Given the description of an element on the screen output the (x, y) to click on. 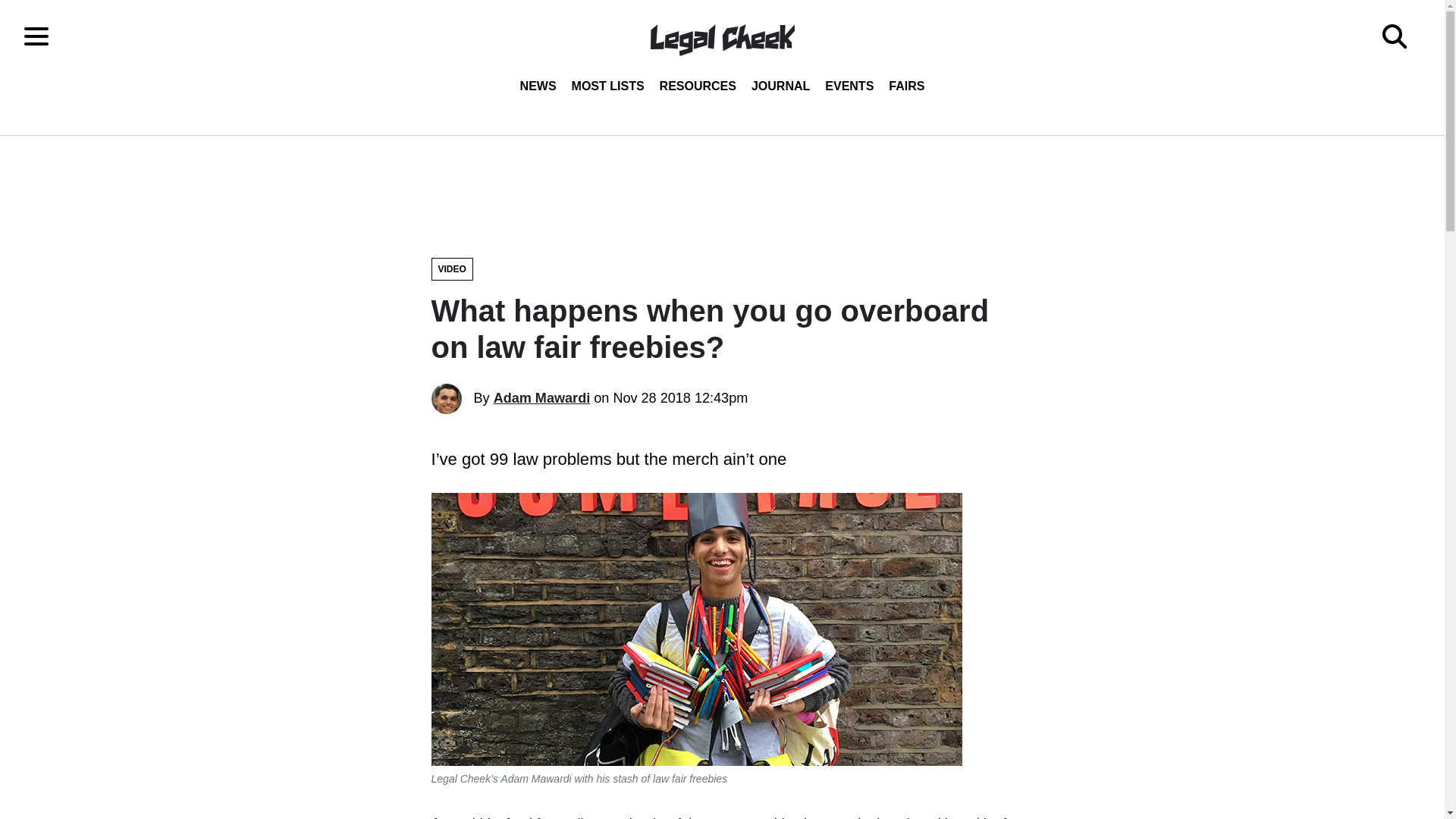
Adam Mawardi (542, 397)
advertisement (721, 187)
RESOURCES (698, 86)
EVENTS (848, 86)
NEWS (538, 86)
FAIRS (905, 86)
VIDEO (450, 268)
JOURNAL (780, 86)
MOST LISTS (608, 86)
